Given the description of an element on the screen output the (x, y) to click on. 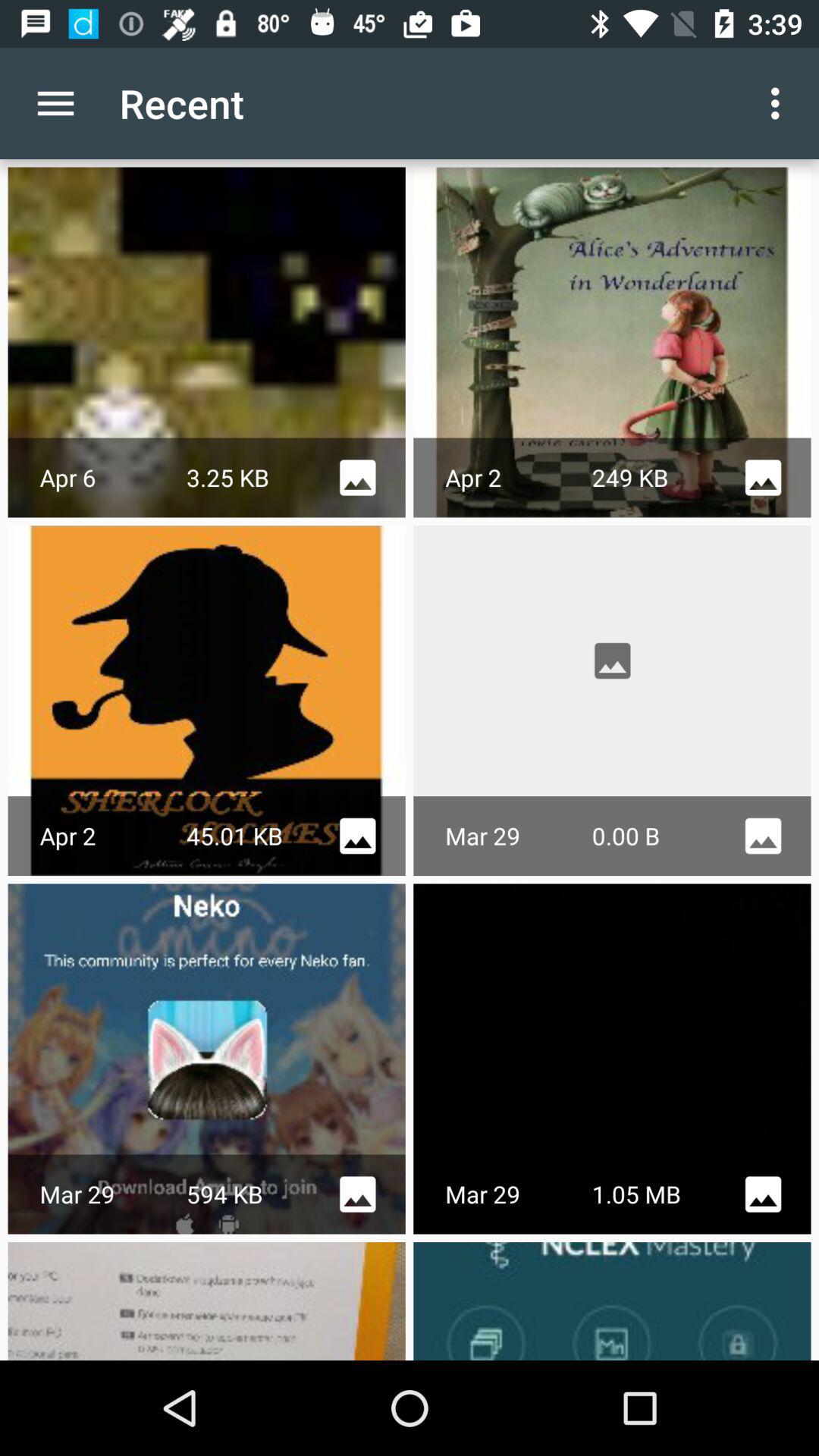
click the icon to the left of recent app (55, 103)
